Given the description of an element on the screen output the (x, y) to click on. 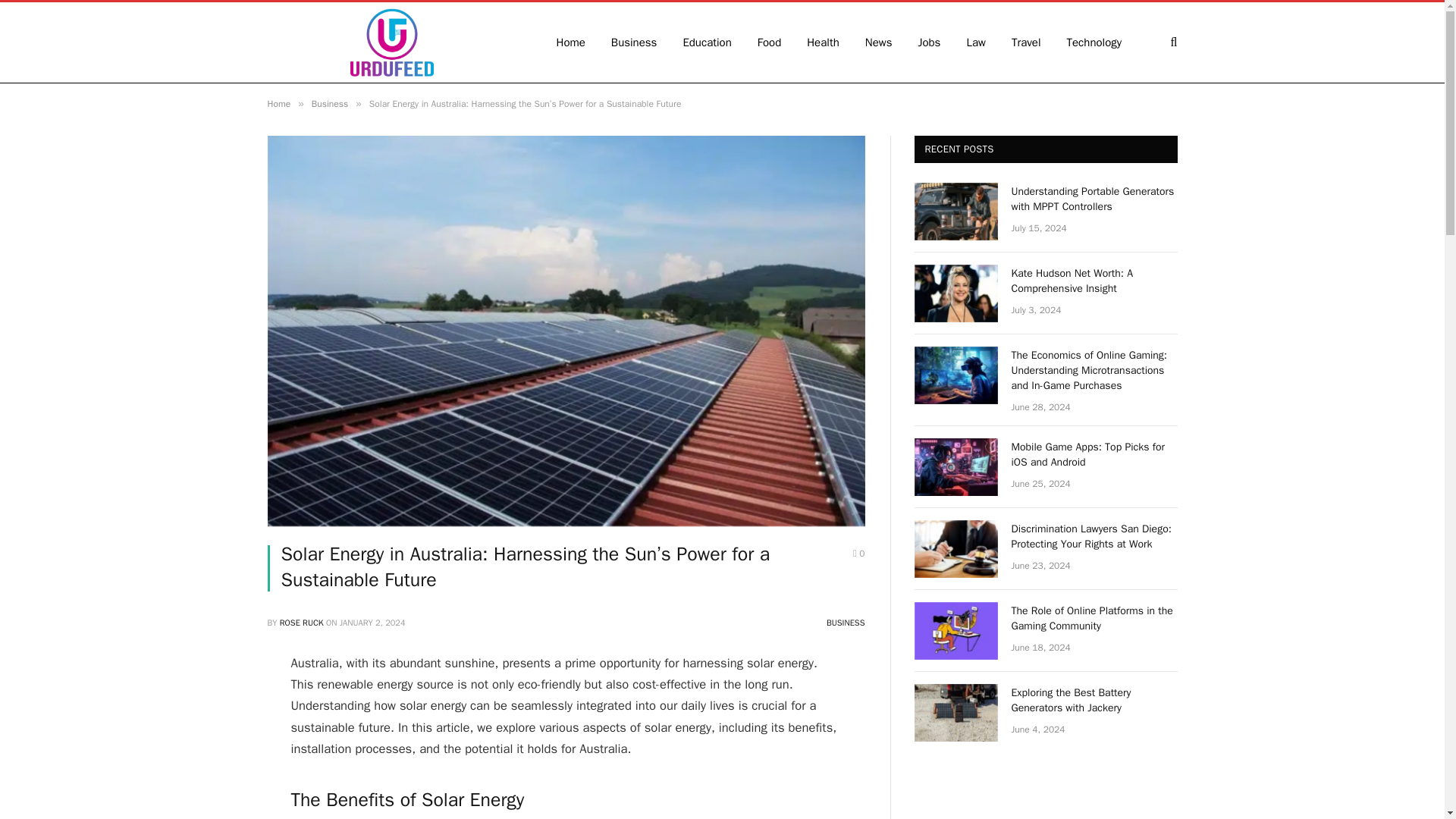
Posts by Rose Ruck (301, 622)
Education (706, 42)
Business (329, 103)
BUSINESS (845, 622)
Business (633, 42)
2024-01-02 (372, 622)
ROSE RUCK (301, 622)
Urdu Feed (391, 42)
Technology (1094, 42)
Home (277, 103)
